Given the description of an element on the screen output the (x, y) to click on. 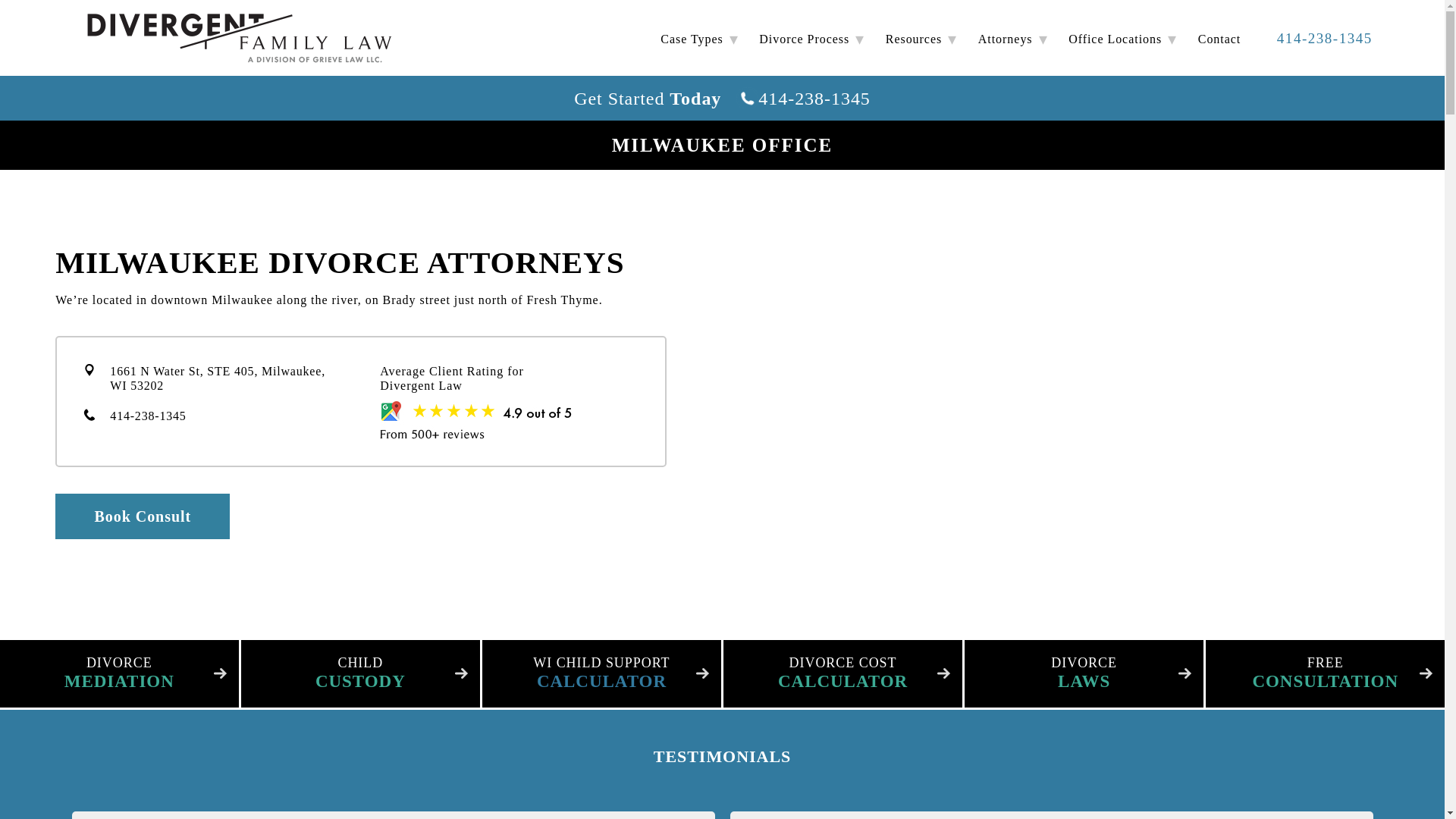
Your divorce timeline (803, 38)
Resources (913, 38)
The family law firm Wisconsin trusts (241, 39)
Attorneys (1005, 38)
Divorce Process (803, 38)
Case Types (691, 38)
The family law firm Wisconsin trusts (240, 38)
